Given the description of an element on the screen output the (x, y) to click on. 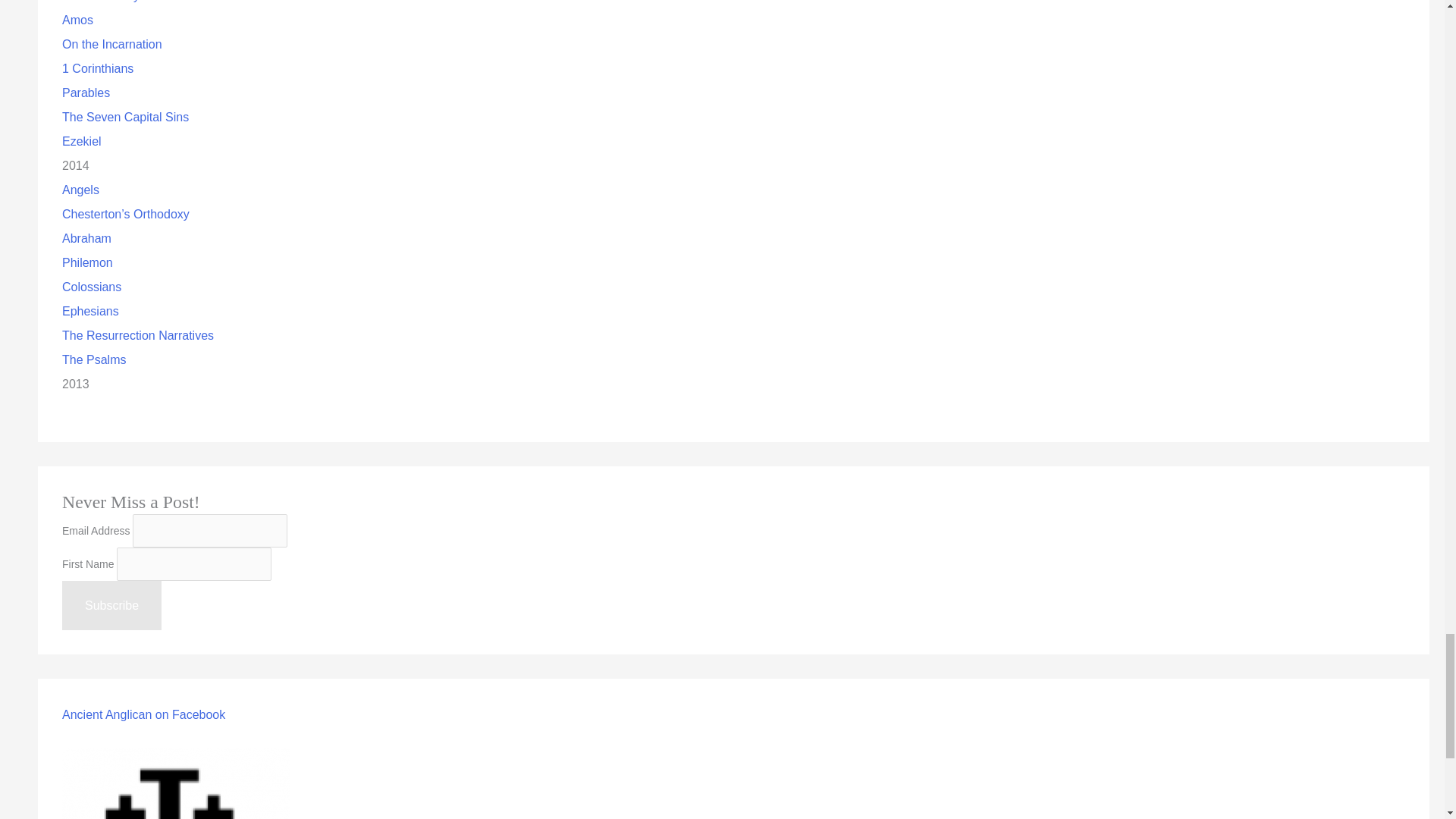
Subscribe (111, 605)
